Given the description of an element on the screen output the (x, y) to click on. 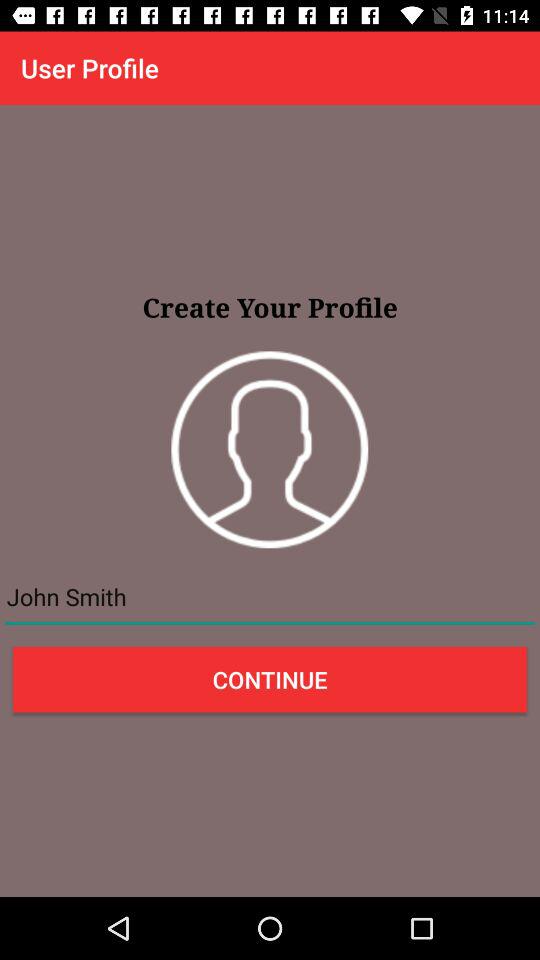
select avatar (269, 449)
